Given the description of an element on the screen output the (x, y) to click on. 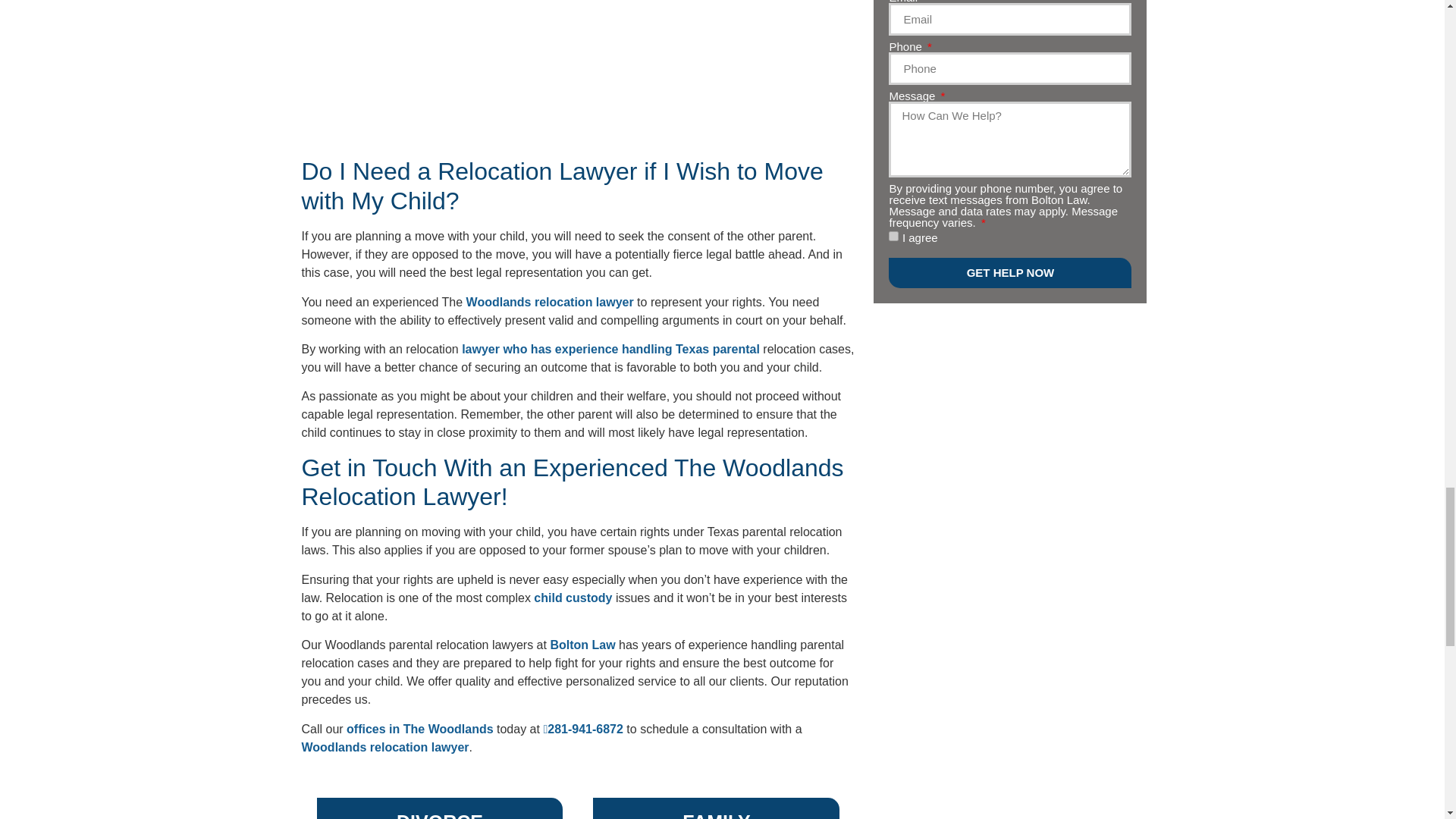
on (893, 235)
